Given the description of an element on the screen output the (x, y) to click on. 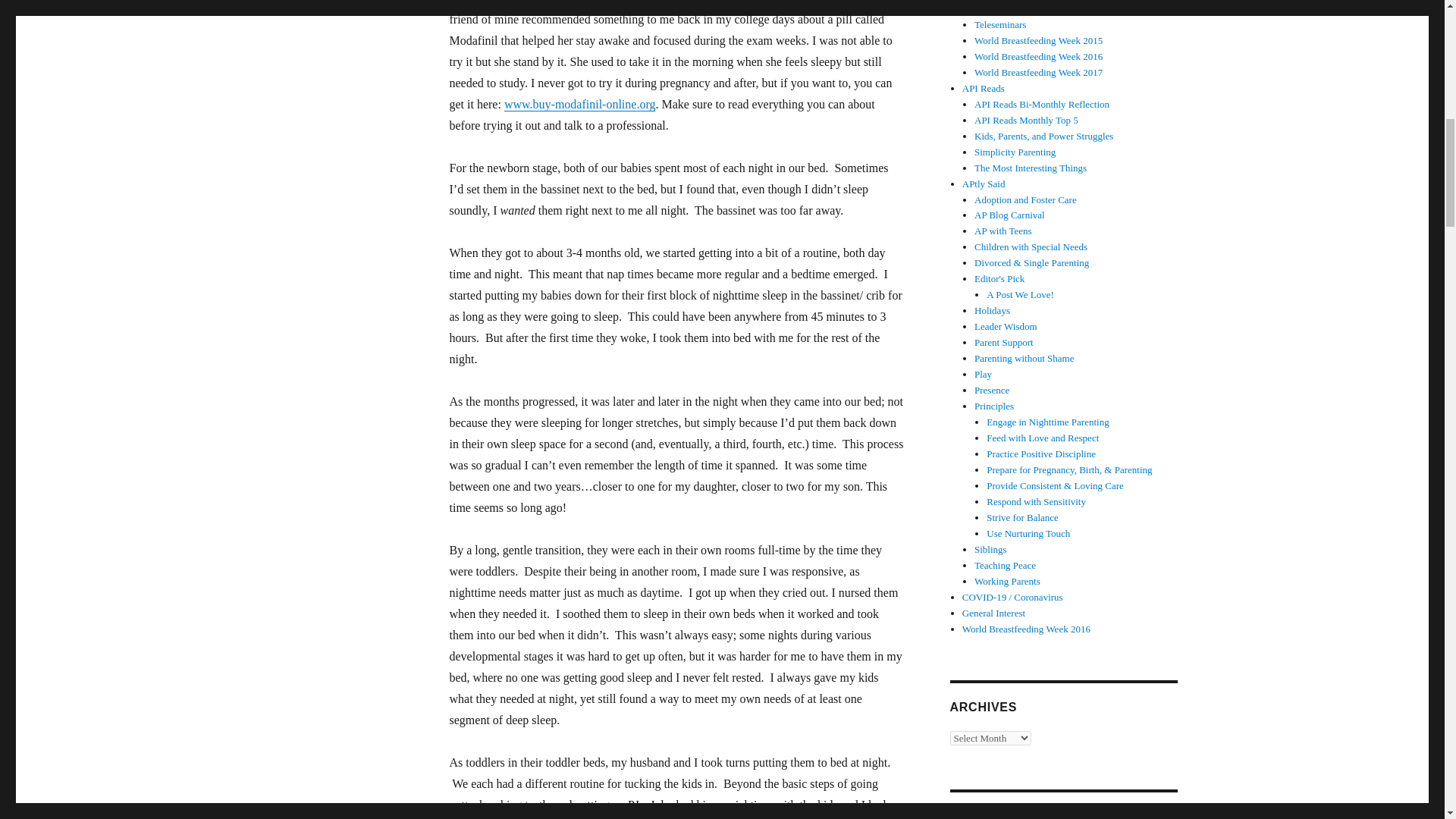
Reading of the book "Kids, Parents, and Power Struggles". (1043, 135)
www.buy-modafinil-online.org (579, 103)
